Given the description of an element on the screen output the (x, y) to click on. 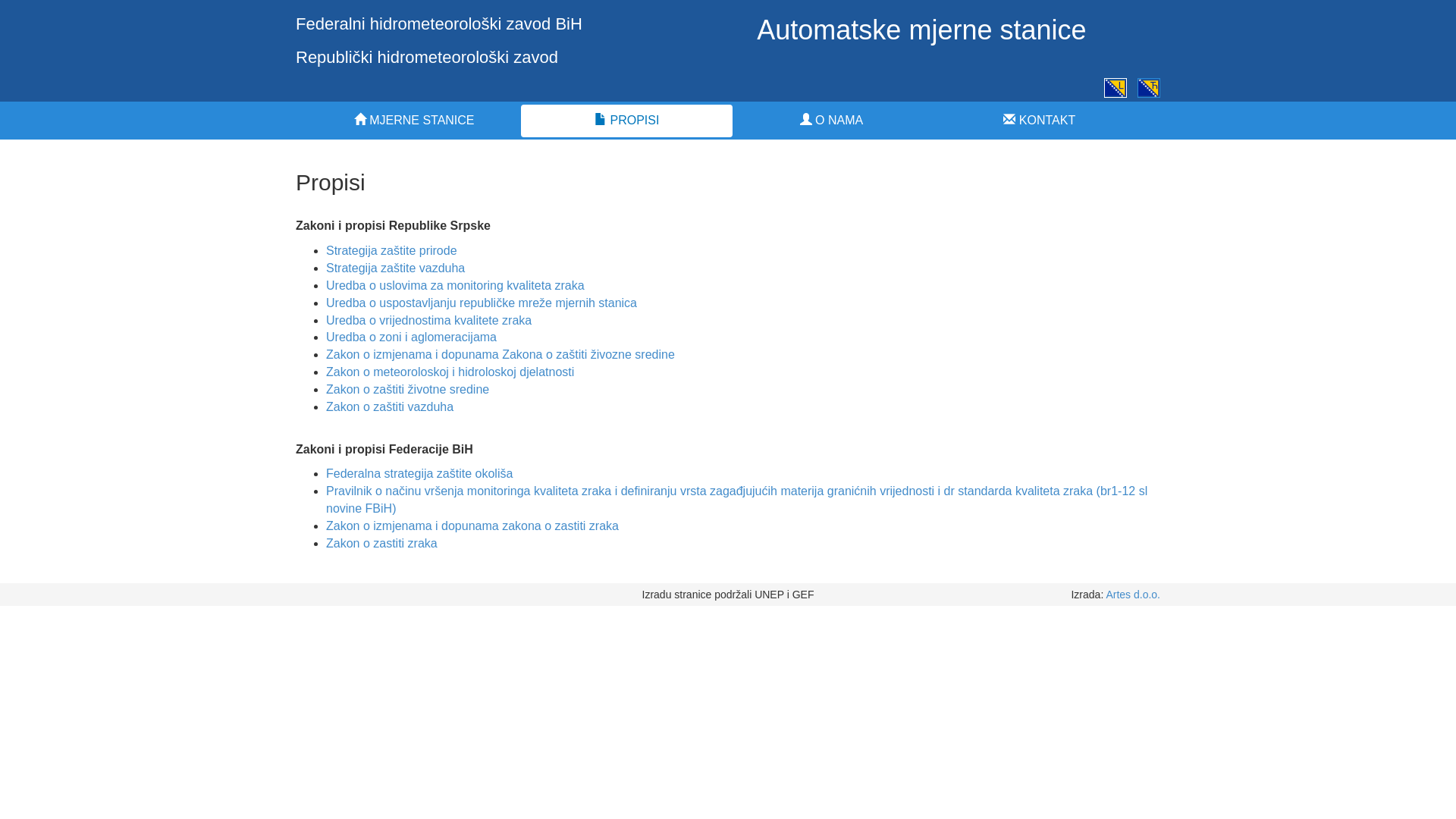
Uredba o uslovima za monitoring kvaliteta zraka Element type: text (455, 285)
PROPISI Element type: text (626, 120)
Cirilica Element type: hover (1148, 87)
MJERNE STANICE Element type: text (413, 120)
Latinica Element type: hover (1115, 87)
Zakon o zastiti zraka Element type: text (381, 542)
Uredba o vrijednostima kvalitete zraka Element type: text (428, 319)
Artes d.o.o. Element type: text (1132, 594)
Zakon o izmjenama i dopunama zakona o zastiti zraka Element type: text (472, 525)
O NAMA Element type: text (830, 120)
Zakon o meteoroloskoj i hidroloskoj djelatnosti Element type: text (450, 371)
Uredba o zoni i aglomeracijama Element type: text (411, 336)
KONTAKT Element type: text (1039, 120)
